Given the description of an element on the screen output the (x, y) to click on. 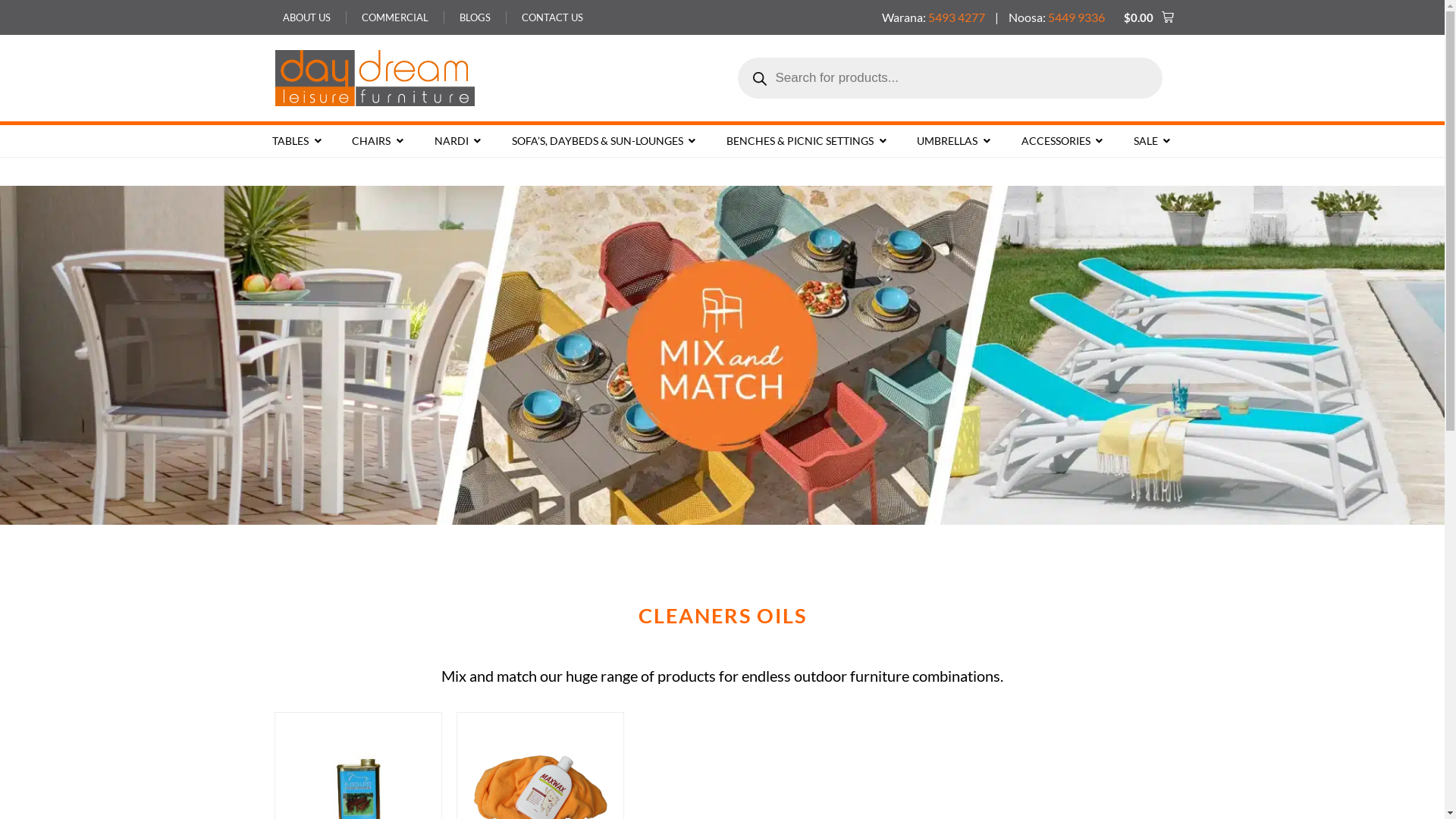
5449 9336 Element type: text (1076, 16)
ABOUT US Element type: text (305, 17)
5493 4277 Element type: text (956, 16)
BLOGS Element type: text (474, 17)
COMMERCIAL Element type: text (393, 17)
$0.00 Element type: text (1147, 17)
CONTACT US Element type: text (552, 17)
